Given the description of an element on the screen output the (x, y) to click on. 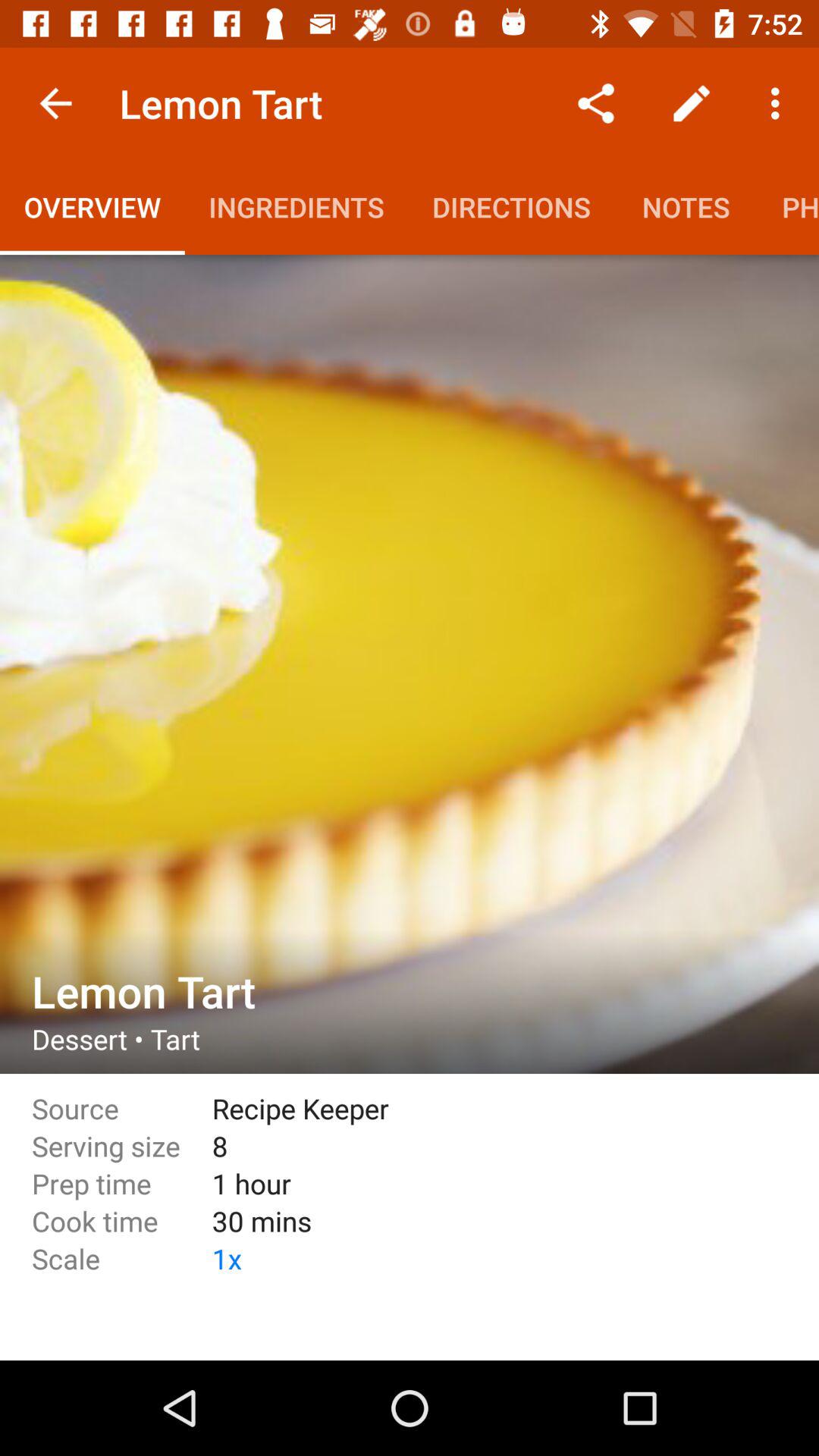
select the edit icon (691, 103)
select the edit icon (691, 103)
select the icon in the top right corner (779, 103)
click on the options button which is just below the time (779, 103)
